Given the description of an element on the screen output the (x, y) to click on. 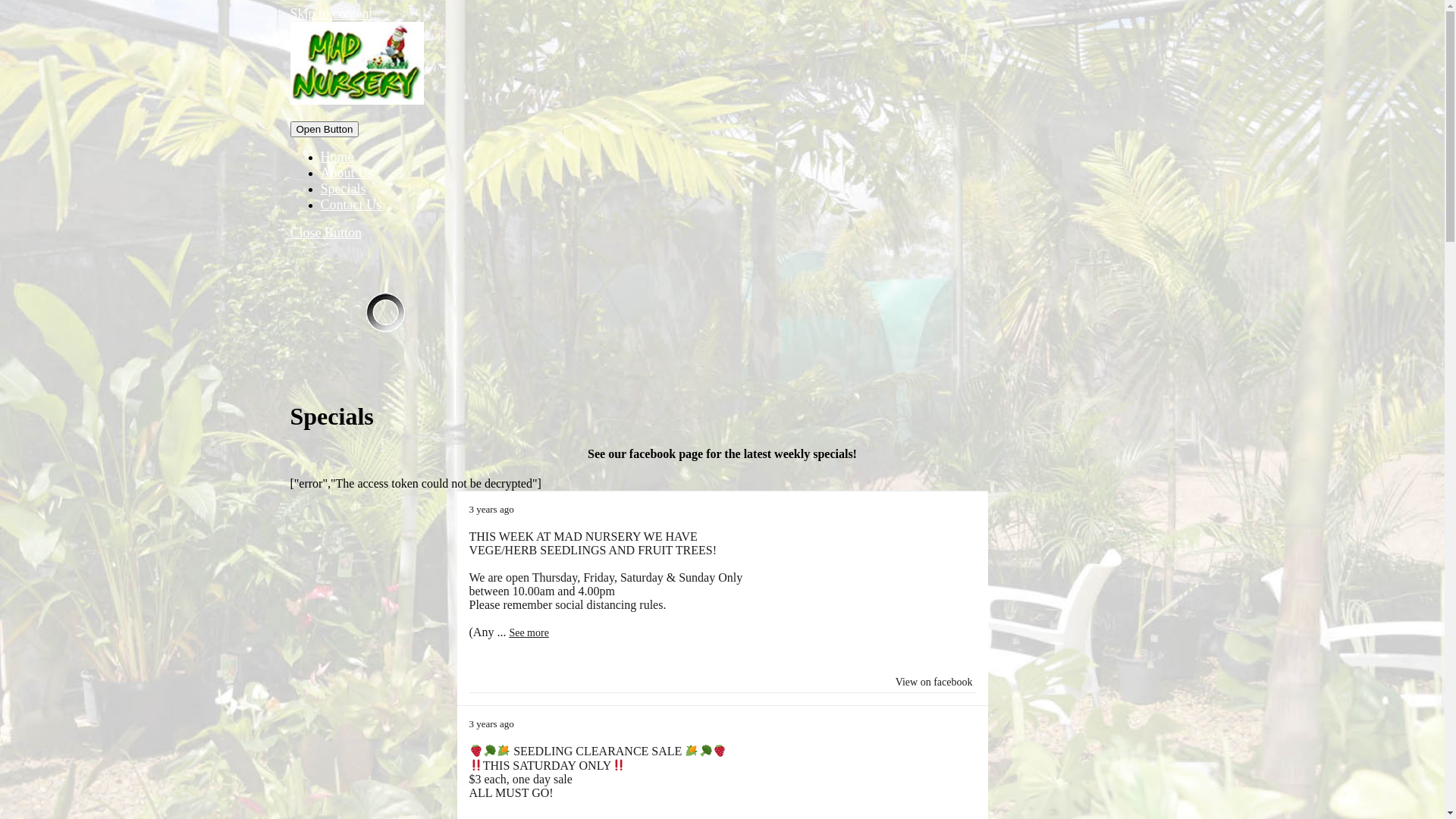
Close Button Element type: text (325, 232)
Skip to content Element type: text (330, 13)
Open Button Element type: text (323, 129)
Contact Us Element type: text (350, 204)
Home Element type: text (336, 156)
About Us Element type: text (346, 172)
Specials Element type: text (342, 188)
See more Element type: text (528, 632)
View on facebook Element type: text (933, 682)
